Given the description of an element on the screen output the (x, y) to click on. 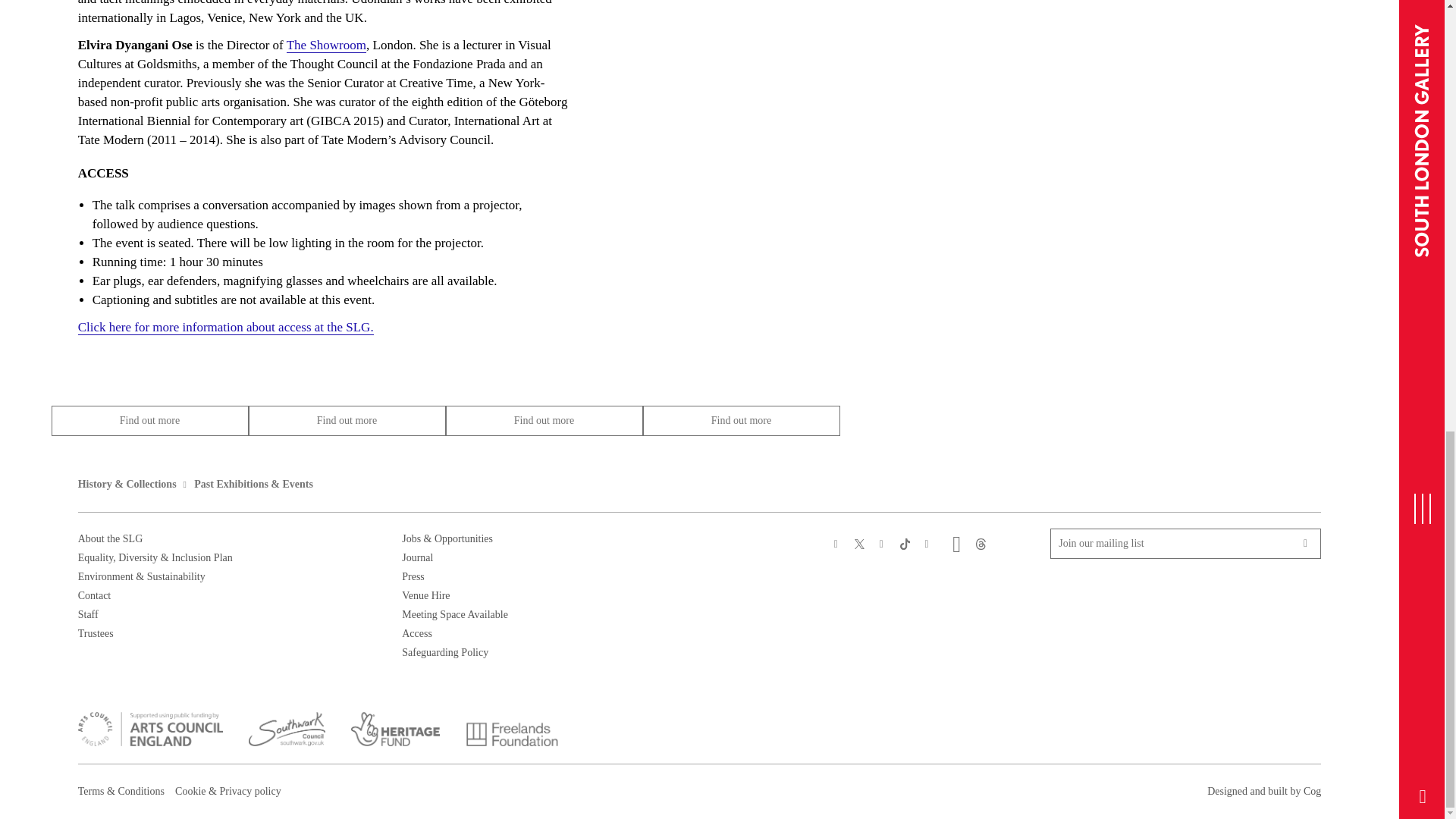
Journal (416, 557)
Find out more (741, 420)
Meeting Space Available (454, 614)
Safeguarding Policy (444, 652)
The Showroom (326, 45)
Staff (88, 614)
Venue Hire (425, 595)
Contact (95, 595)
Find out more (149, 420)
YouTube (927, 543)
Find out more (544, 420)
Facebook (836, 543)
Access (416, 633)
About the SLG (110, 538)
Trustees (95, 633)
